Given the description of an element on the screen output the (x, y) to click on. 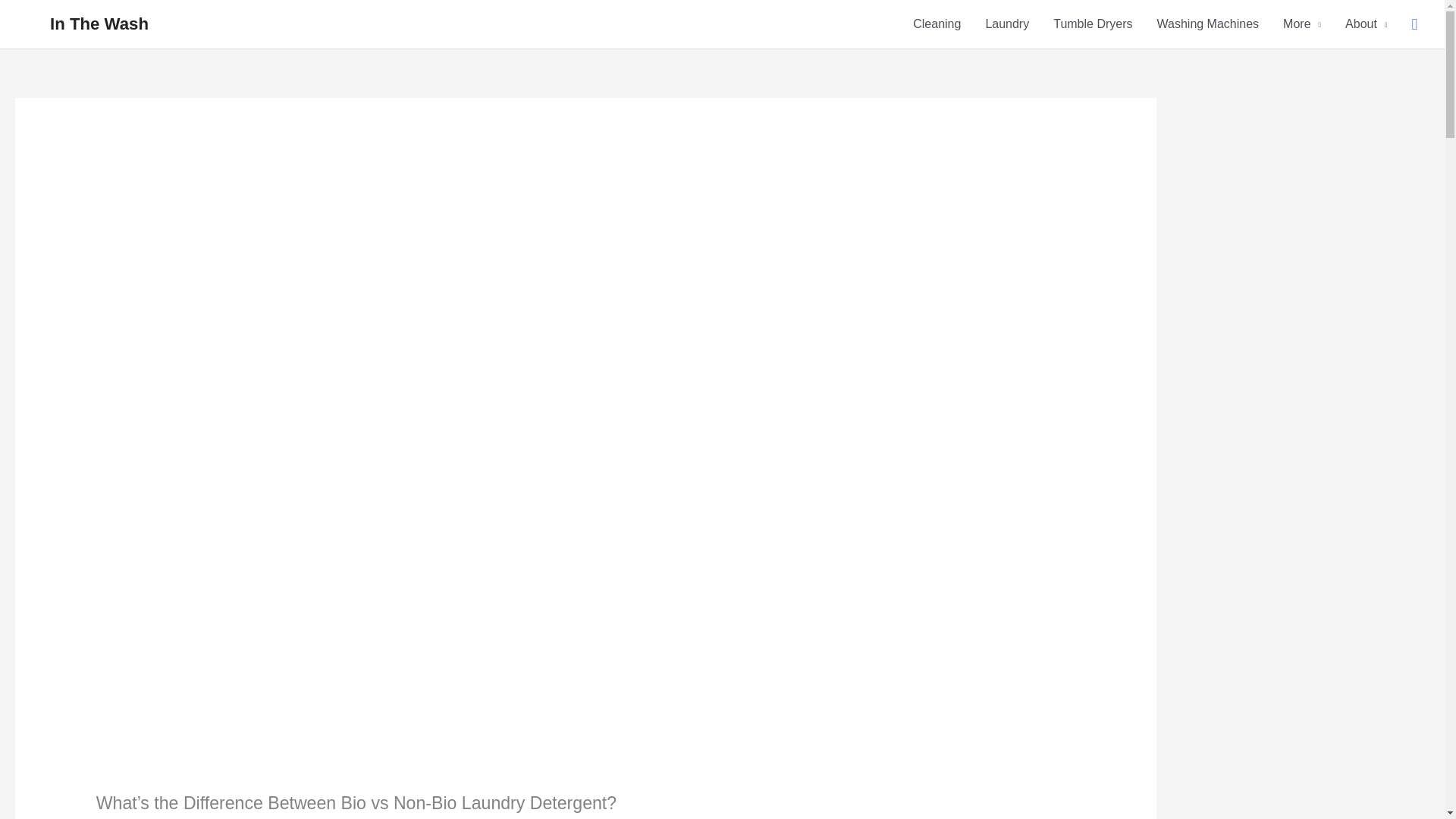
About (1366, 24)
Tumble Dryers (1092, 24)
Laundry (1006, 24)
In The Wash (98, 23)
Cleaning (936, 24)
Washing Machines (1207, 24)
More (1302, 24)
